Given the description of an element on the screen output the (x, y) to click on. 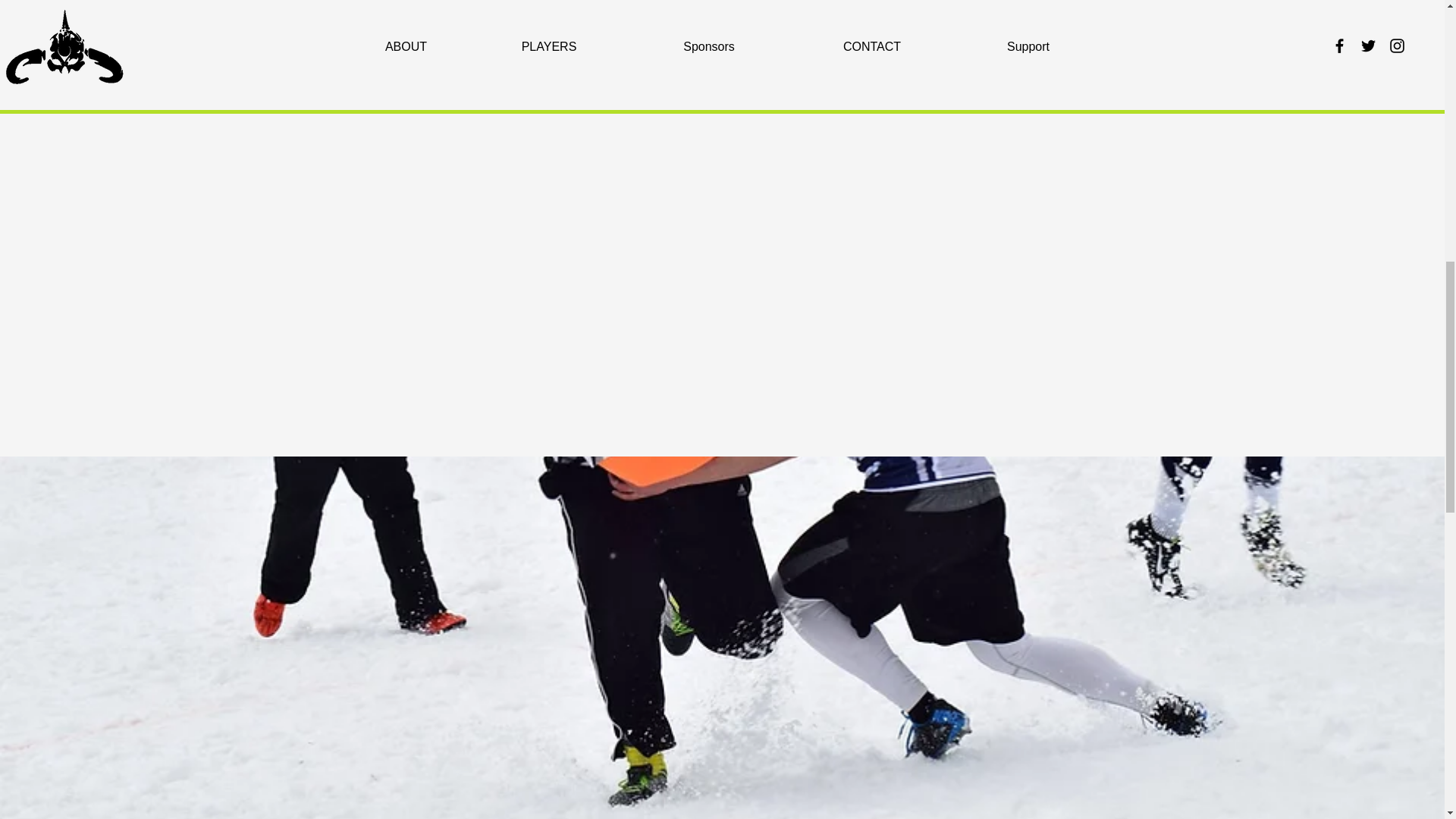
Full Schedule (719, 515)
